Given the description of an element on the screen output the (x, y) to click on. 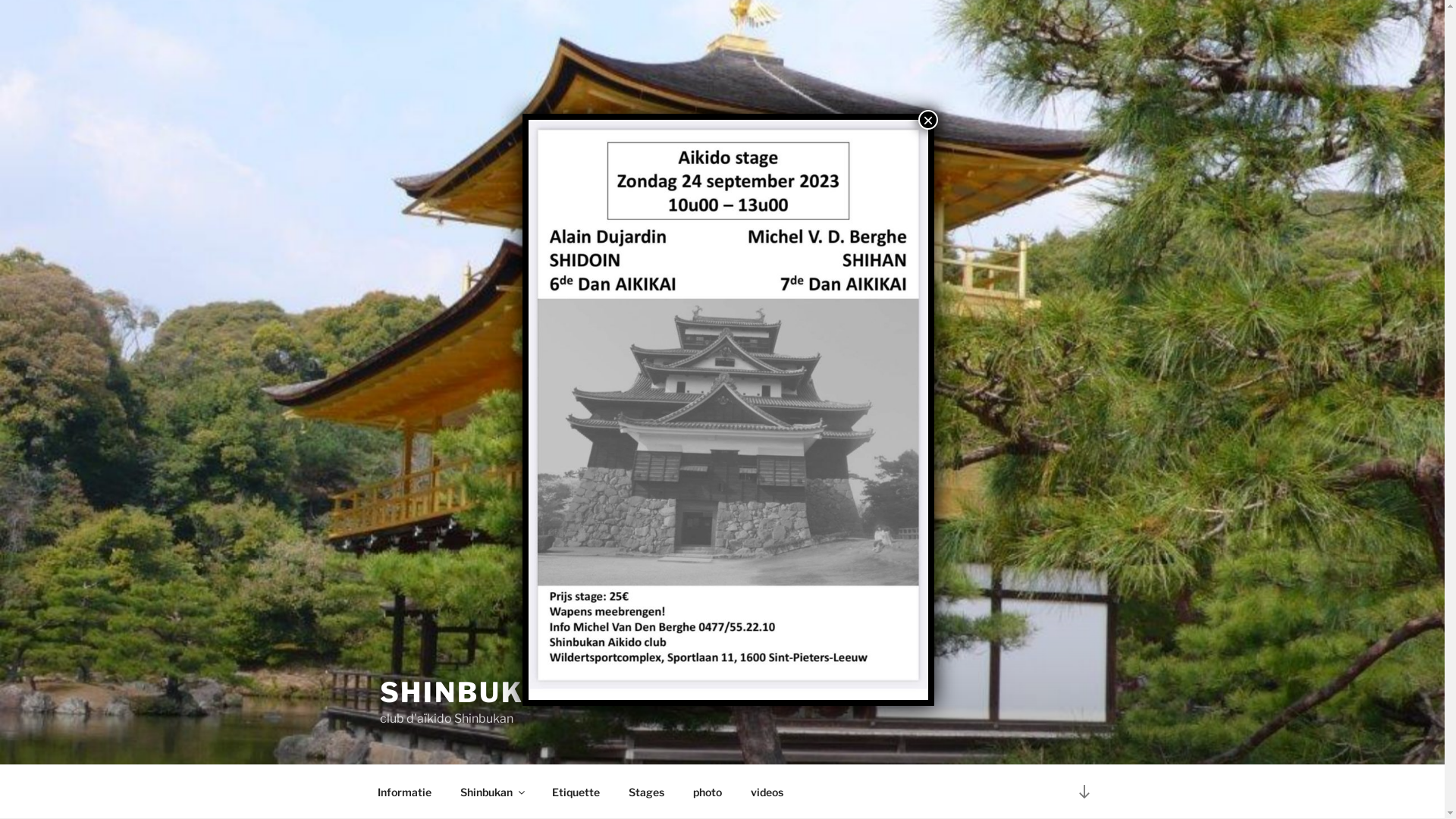
Etiquette Element type: text (575, 791)
Informatie Element type: text (404, 791)
SHINBUKAN Element type: text (473, 692)
Stages Element type: text (646, 791)
videos Element type: text (766, 791)
Shinbukan Element type: text (491, 791)
Aller au contenu principal Element type: text (0, 0)
photo Element type: text (706, 791)
